Given the description of an element on the screen output the (x, y) to click on. 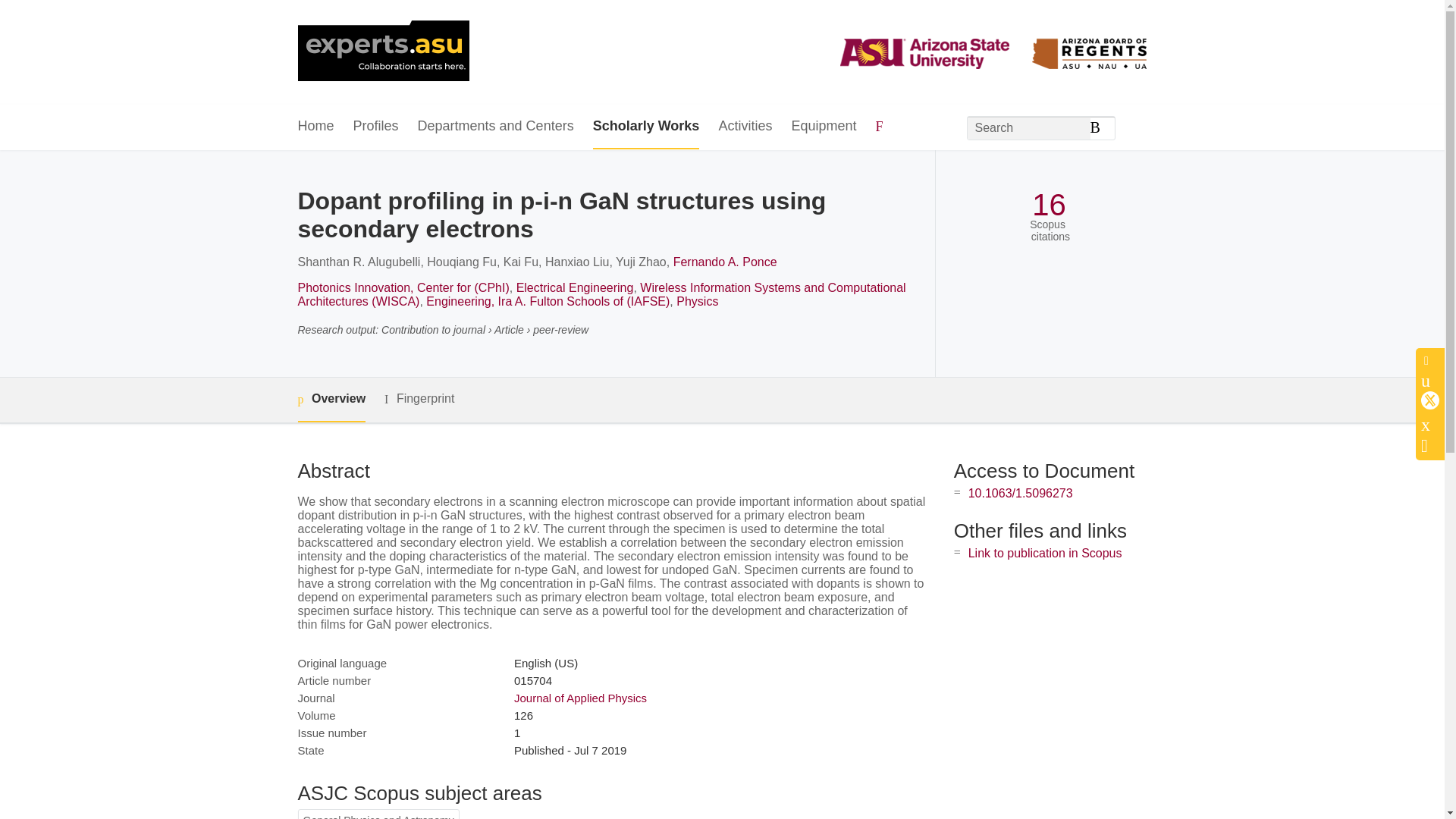
Activities (744, 126)
Scholarly Works (646, 126)
Overview (331, 399)
Departments and Centers (495, 126)
Fingerprint (419, 398)
Journal of Applied Physics (579, 697)
Physics (697, 300)
Electrical Engineering (574, 287)
Fernando A. Ponce (724, 261)
Profiles (375, 126)
Equipment (823, 126)
Link to publication in Scopus (1045, 553)
Arizona State University Home (382, 52)
16 (1048, 204)
